Given the description of an element on the screen output the (x, y) to click on. 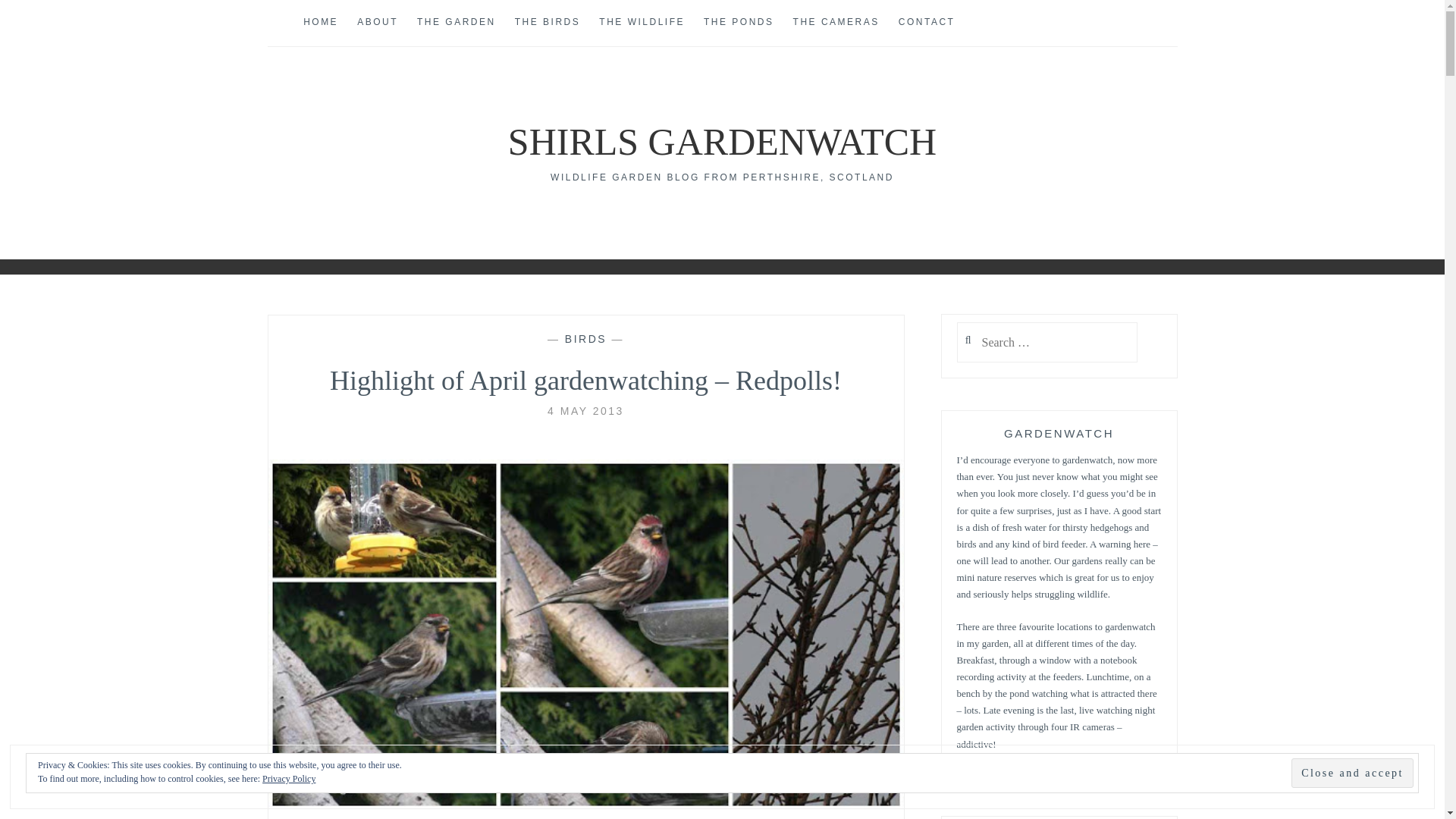
Close and accept (1352, 772)
HOME (319, 22)
THE PONDS (738, 22)
CONTACT (926, 22)
BIRDS (585, 338)
THE WILDLIFE (641, 22)
THE BIRDS (547, 22)
THE CAMERAS (836, 22)
SHIRLS GARDENWATCH (722, 141)
THE GARDEN (456, 22)
